Given the description of an element on the screen output the (x, y) to click on. 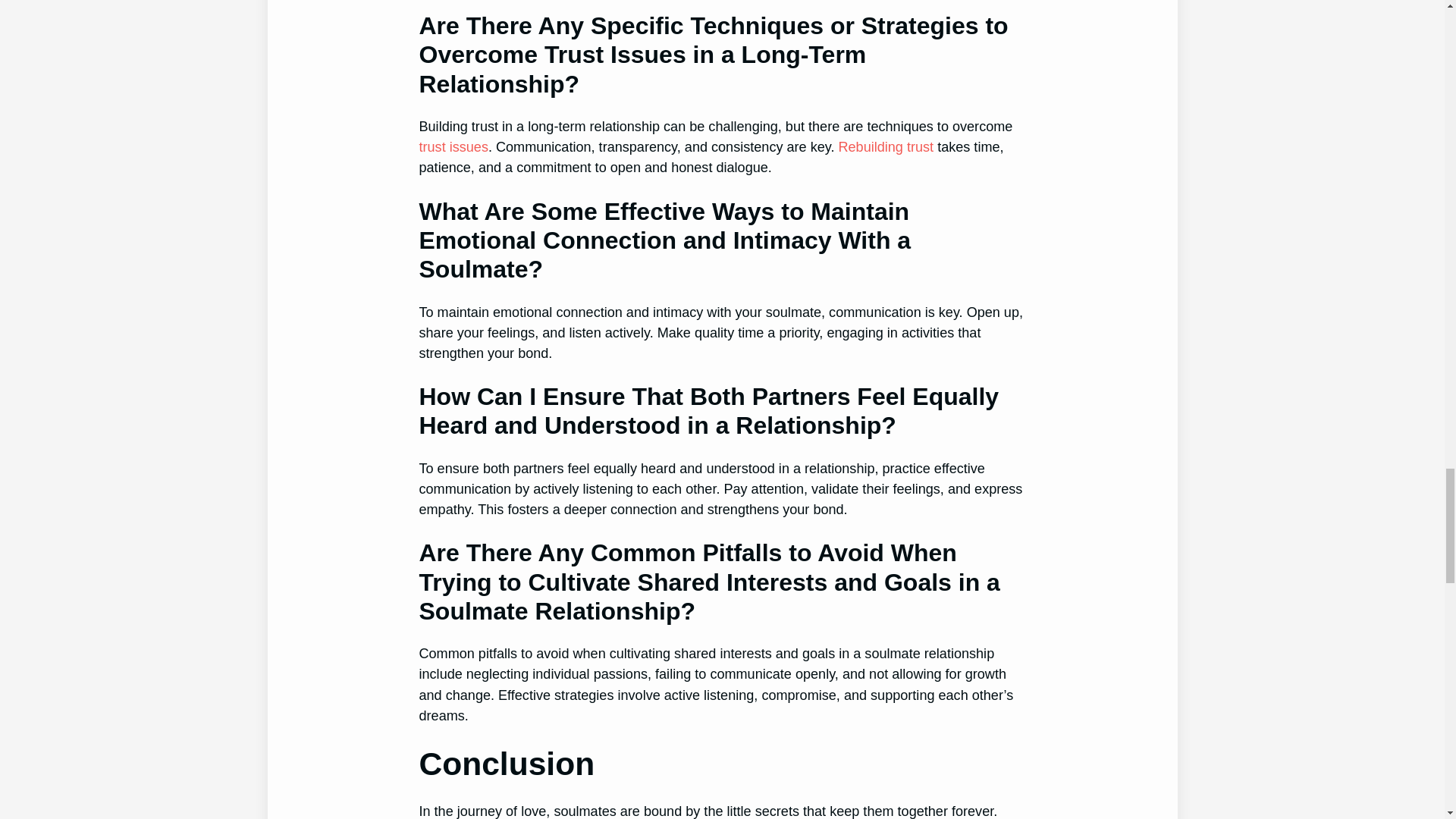
trust issues (453, 146)
trust issues (453, 146)
Rebuilding trust (885, 146)
Rebuilding trust (885, 146)
